Given the description of an element on the screen output the (x, y) to click on. 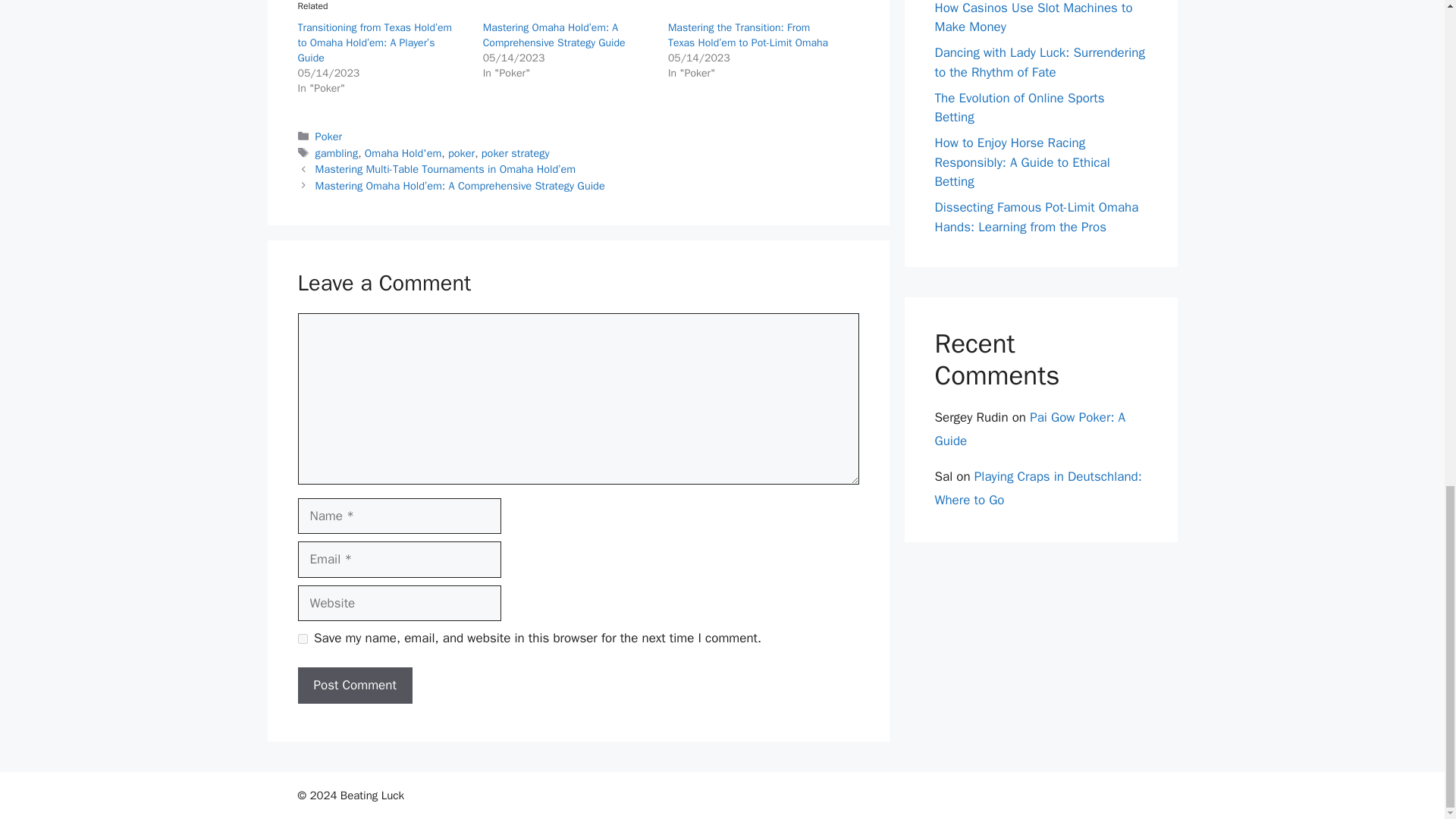
Post Comment (354, 685)
poker strategy (515, 152)
gambling (336, 152)
Omaha Hold'em (403, 152)
yes (302, 638)
poker (461, 152)
Poker (328, 136)
Post Comment (354, 685)
Scroll back to top (1406, 331)
